Given the description of an element on the screen output the (x, y) to click on. 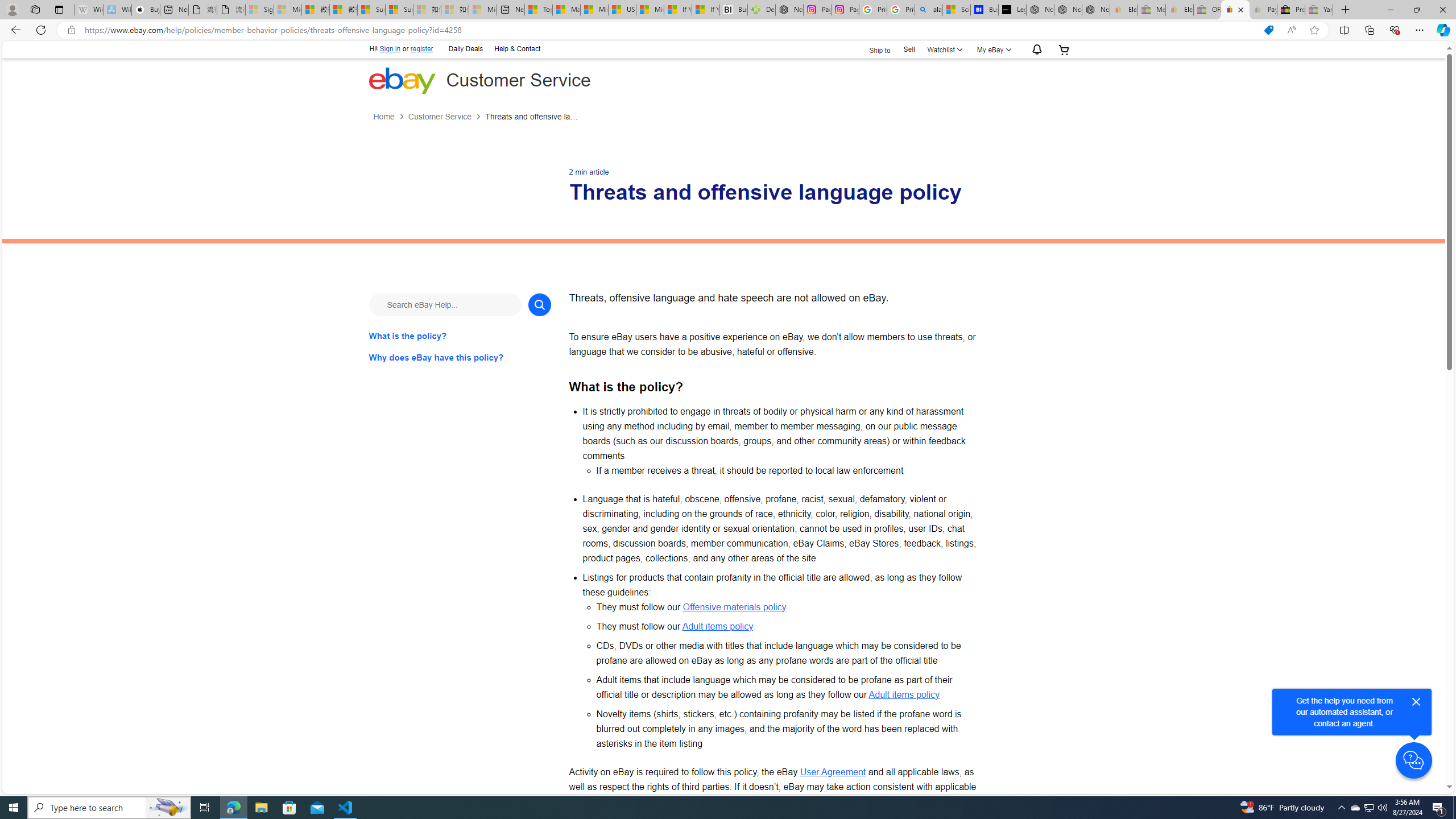
Split screen (1344, 29)
Marine life - MSN (566, 9)
Why does eBay have this policy? (459, 356)
Daily Deals (465, 48)
Home (383, 117)
AutomationID: gh-eb-Alerts (1035, 49)
register (421, 49)
US Heat Deaths Soared To Record High Last Year (621, 9)
Personal Profile (12, 9)
Restore (1416, 9)
Collections (1369, 29)
Microsoft Start (649, 9)
